Given the description of an element on the screen output the (x, y) to click on. 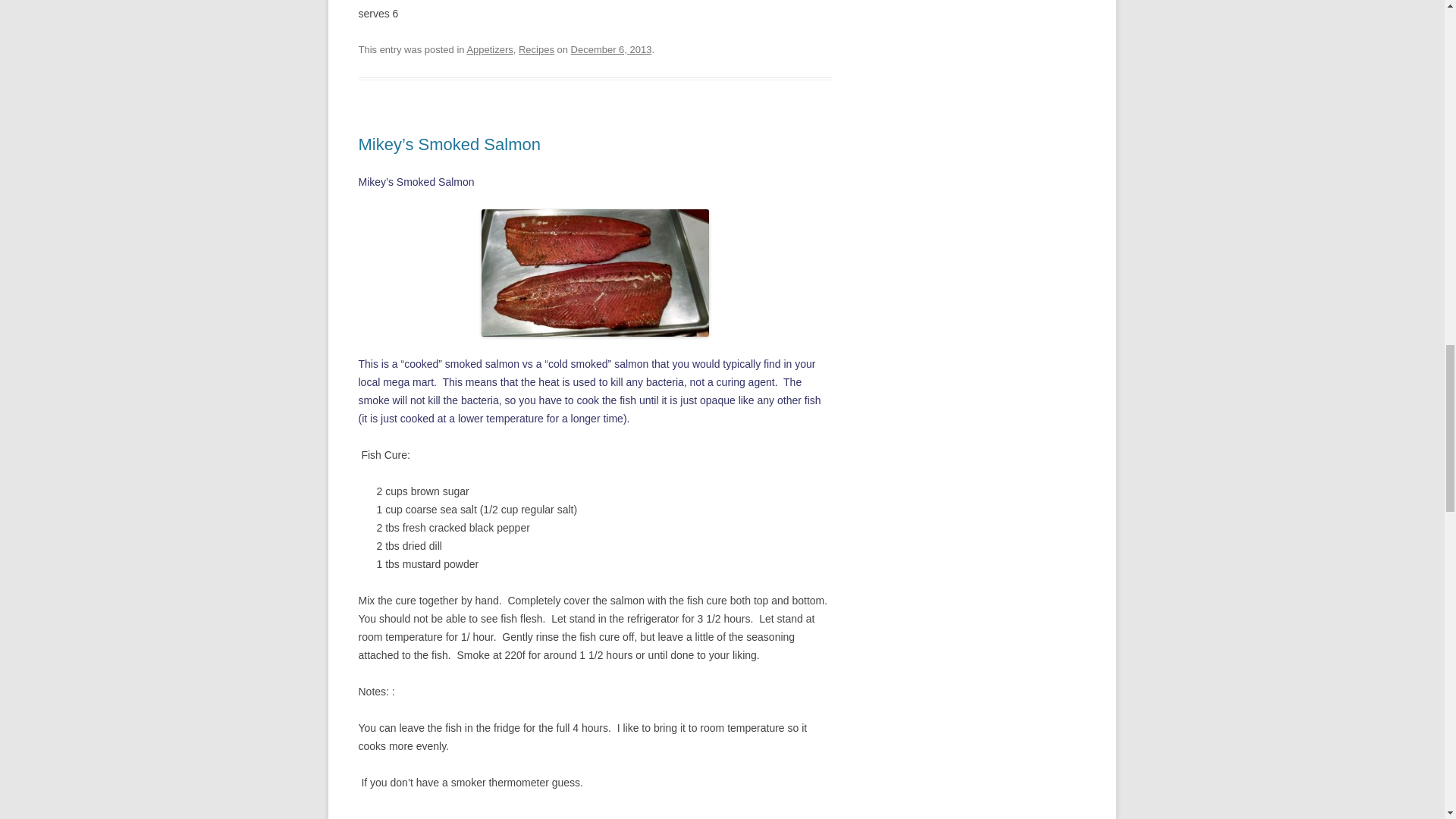
December 6, 2013 (611, 49)
9:54 pm (611, 49)
Recipes (536, 49)
Appetizers (488, 49)
